Given the description of an element on the screen output the (x, y) to click on. 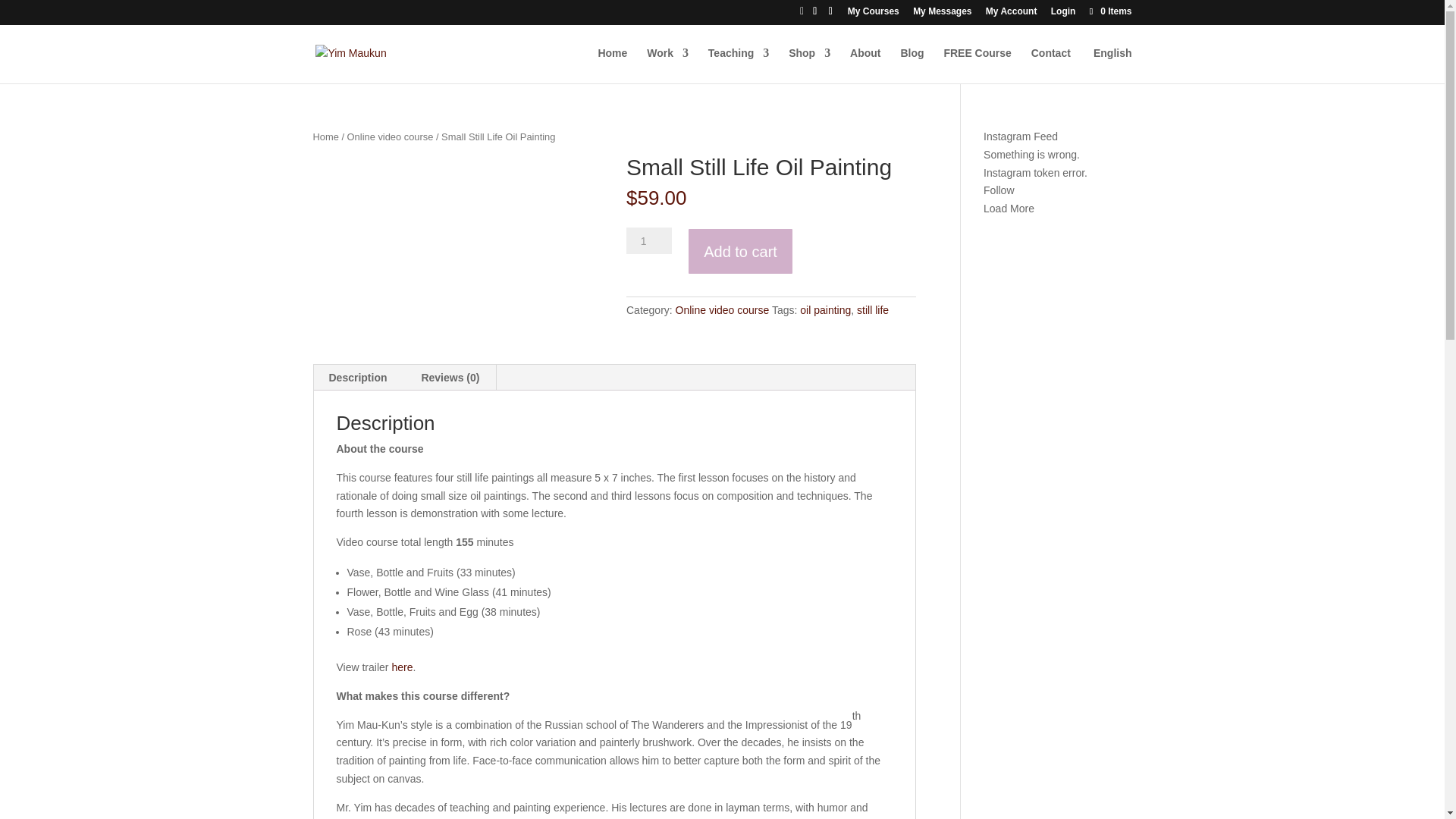
oil painting (824, 309)
FREE Course (976, 65)
Contact (1050, 65)
Description (358, 377)
My Account (1010, 14)
Teaching (737, 65)
Online video course (390, 136)
Work (667, 65)
Online video course (722, 309)
0 Items (1108, 10)
